Given the description of an element on the screen output the (x, y) to click on. 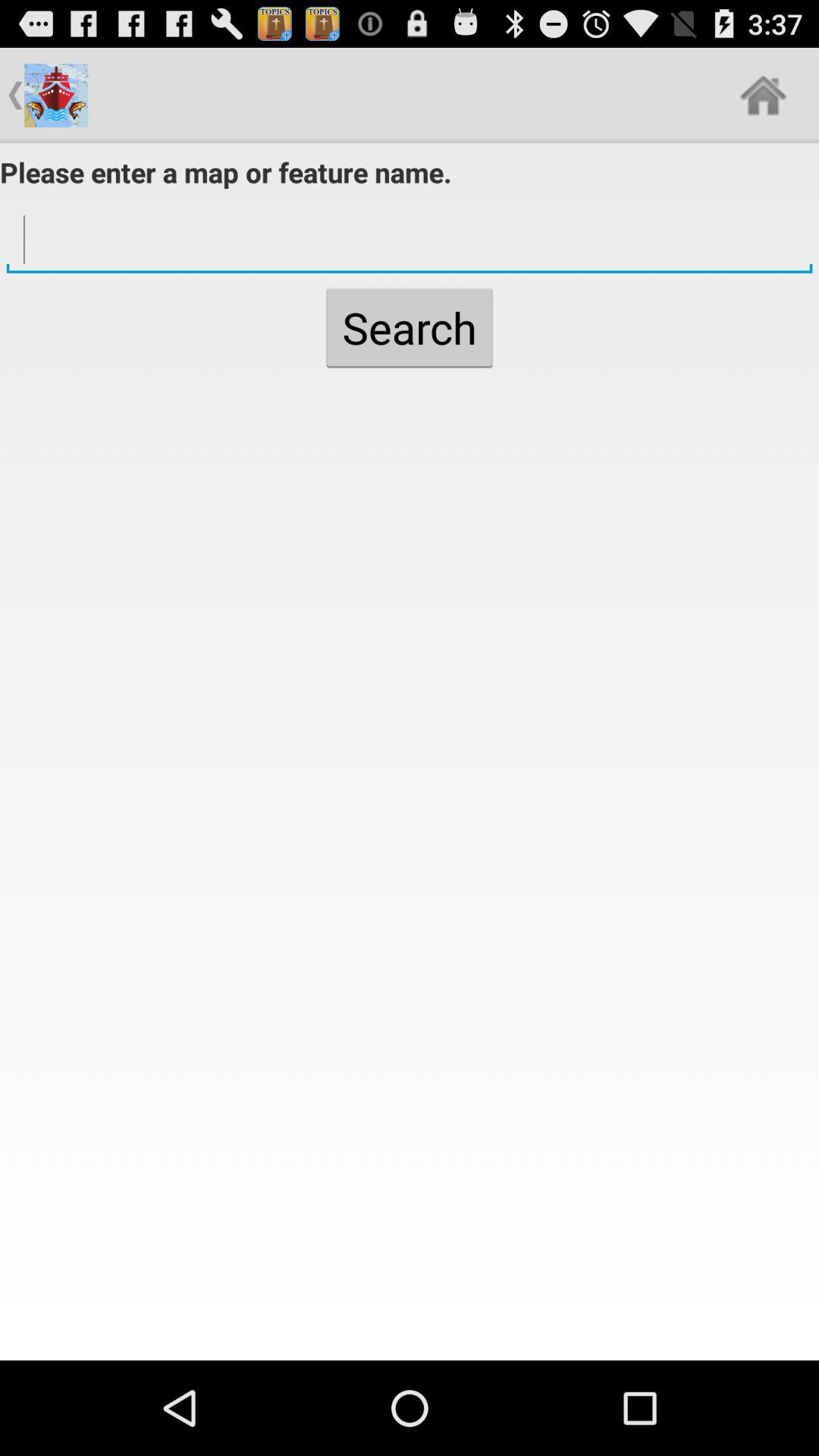
tap the search button (409, 327)
